Given the description of an element on the screen output the (x, y) to click on. 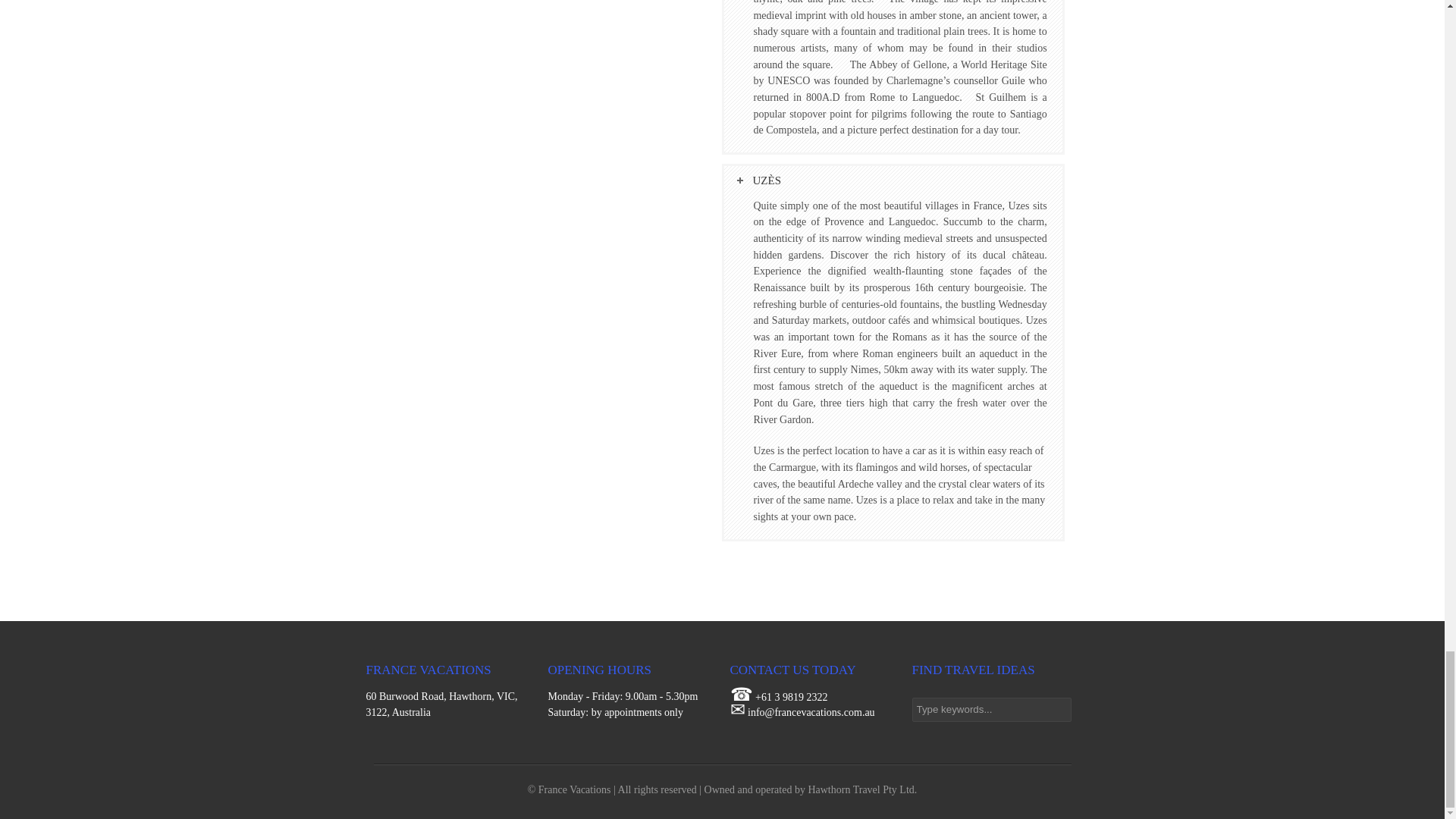
Type keywords... (990, 709)
Maps (440, 705)
60 Burwood Road, Hawthorn, VIC, 3122, Australia (440, 705)
